Given the description of an element on the screen output the (x, y) to click on. 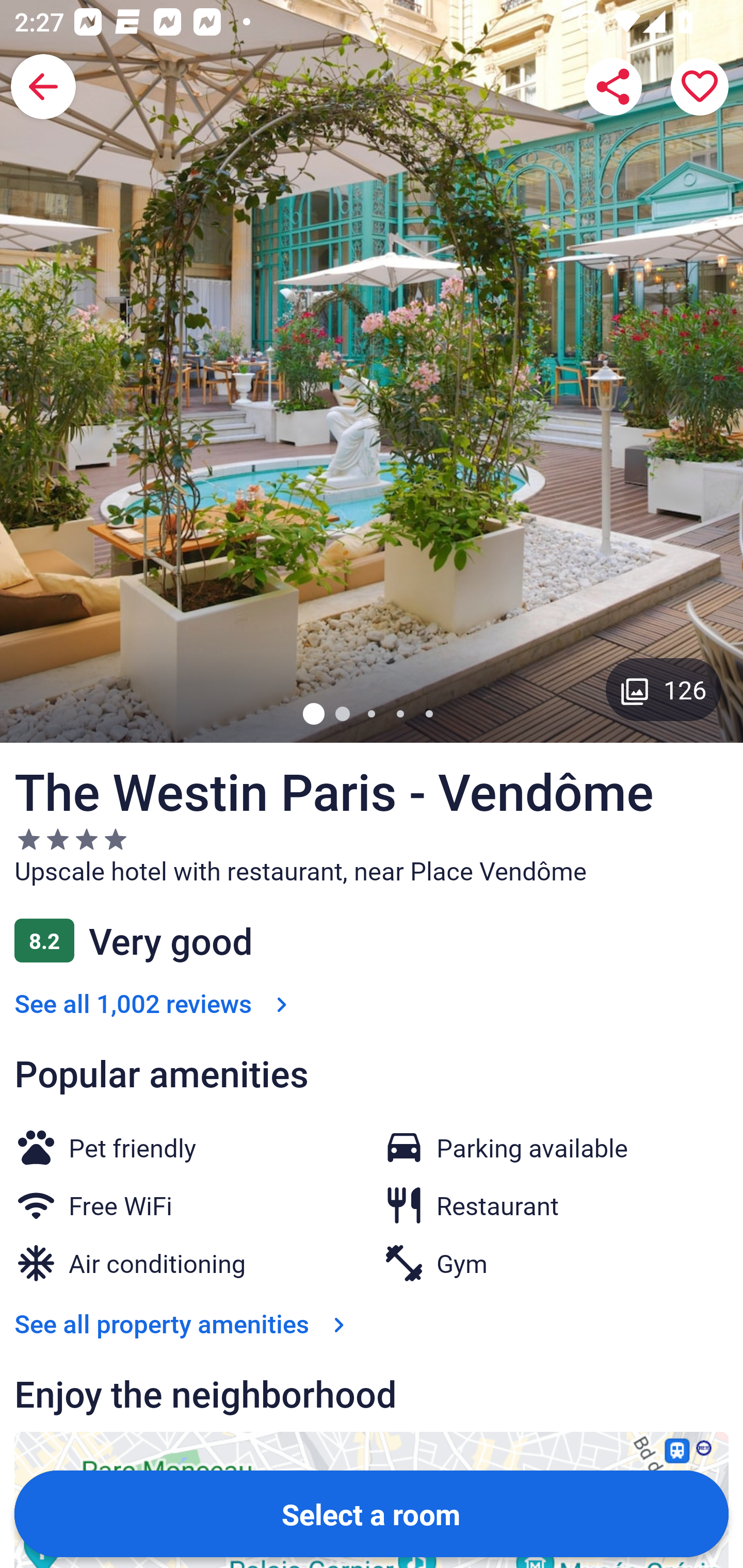
Back (43, 86)
Save property to a trip (699, 86)
Share The Westin Paris - Vendôme (612, 87)
Gallery button with 126 images (663, 689)
See all 1,002 reviews See all 1,002 reviews Link (154, 1002)
See all property amenities (183, 1323)
Select a room Button Select a room (371, 1513)
